Given the description of an element on the screen output the (x, y) to click on. 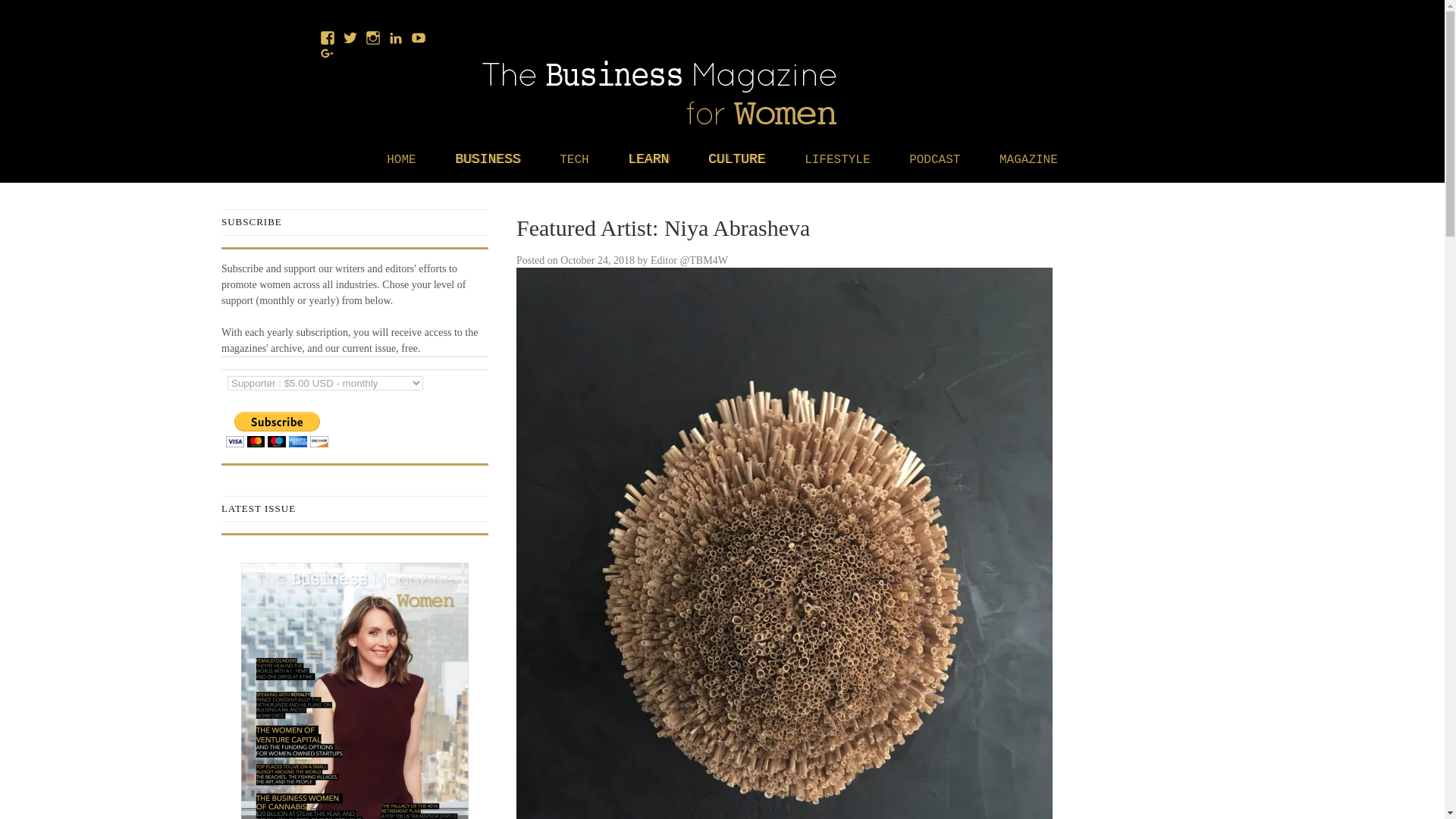
BUSINESS (486, 159)
MAGAZINE (1028, 159)
TECH (573, 159)
LEARN (647, 159)
HOME (400, 159)
CULTURE (736, 159)
LIFESTYLE (837, 159)
PODCAST (933, 159)
